Given the description of an element on the screen output the (x, y) to click on. 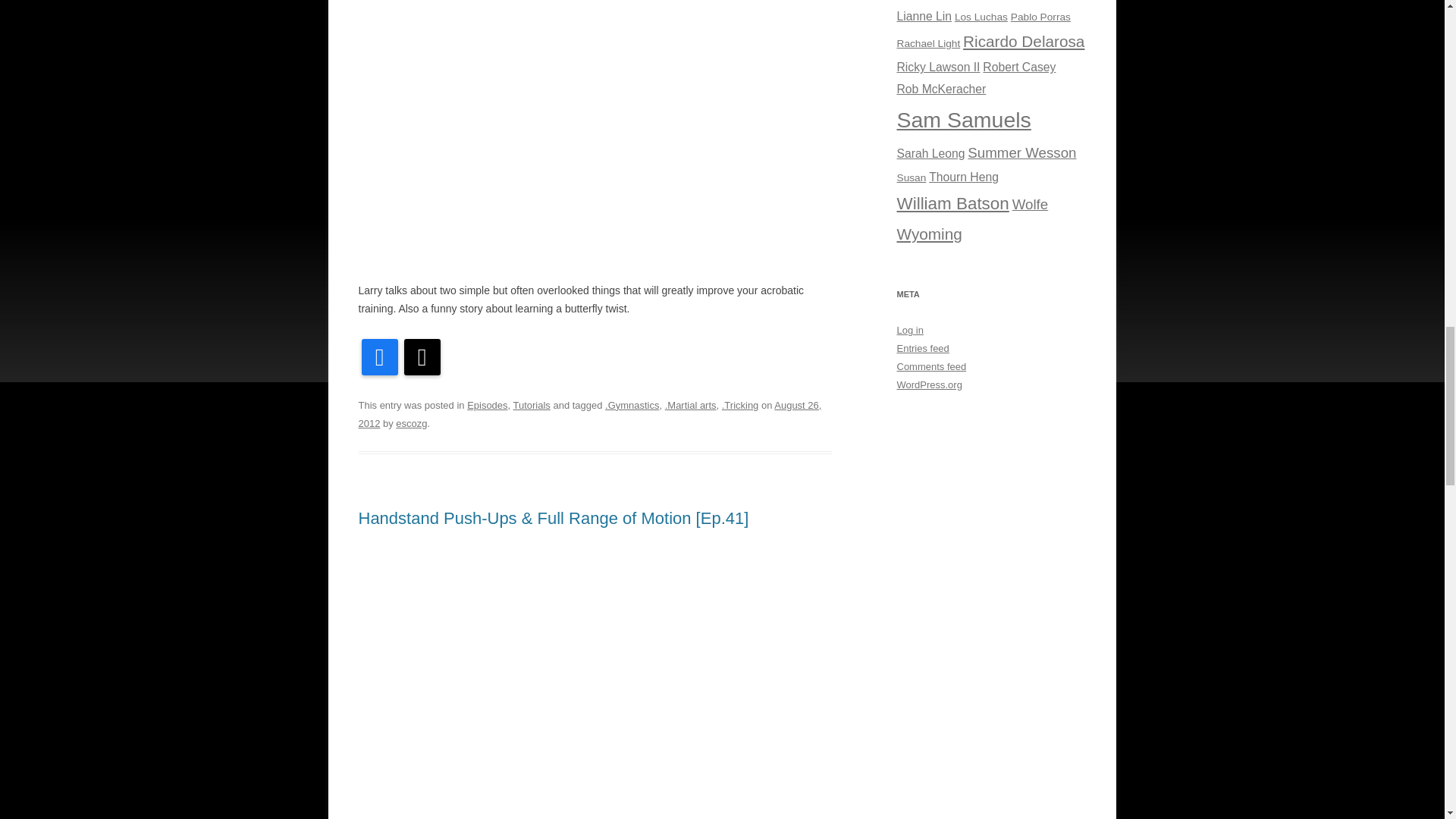
escozg (411, 423)
.Martial arts (690, 405)
August 26, 2012 (589, 414)
.Gymnastics (632, 405)
Tutorials (531, 405)
.Tricking (740, 405)
Episodes (486, 405)
